Given the description of an element on the screen output the (x, y) to click on. 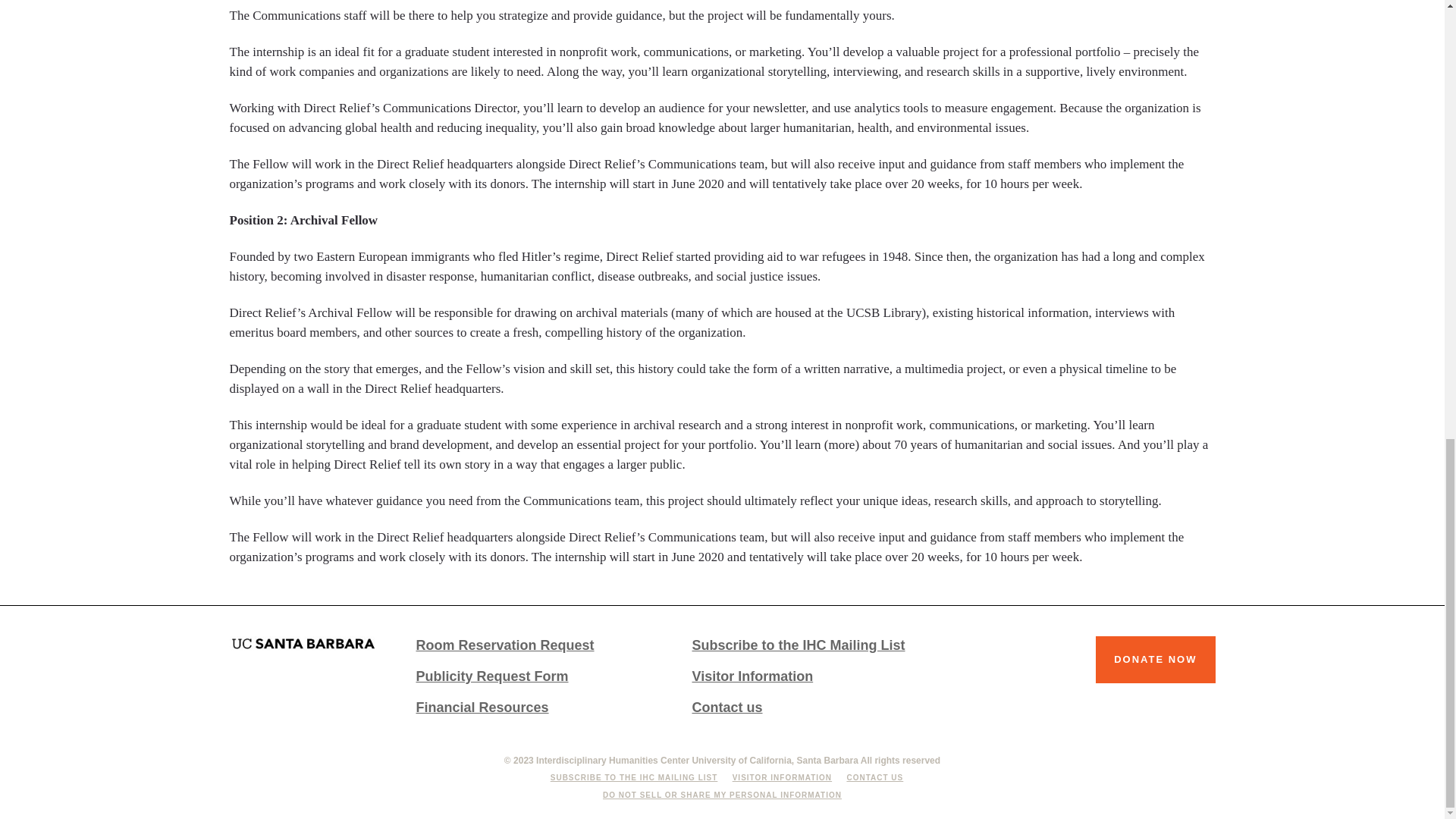
Room Reservation Request (534, 645)
SUBSCRIBE TO THE IHC MAILING LIST (633, 777)
DONATE NOW (1155, 659)
Financial Resources (534, 707)
Visitor Information (812, 676)
Subscribe to the IHC Mailing List (812, 645)
VISITOR INFORMATION (781, 777)
Publicity Request Form (534, 676)
Contact us (812, 707)
